Given the description of an element on the screen output the (x, y) to click on. 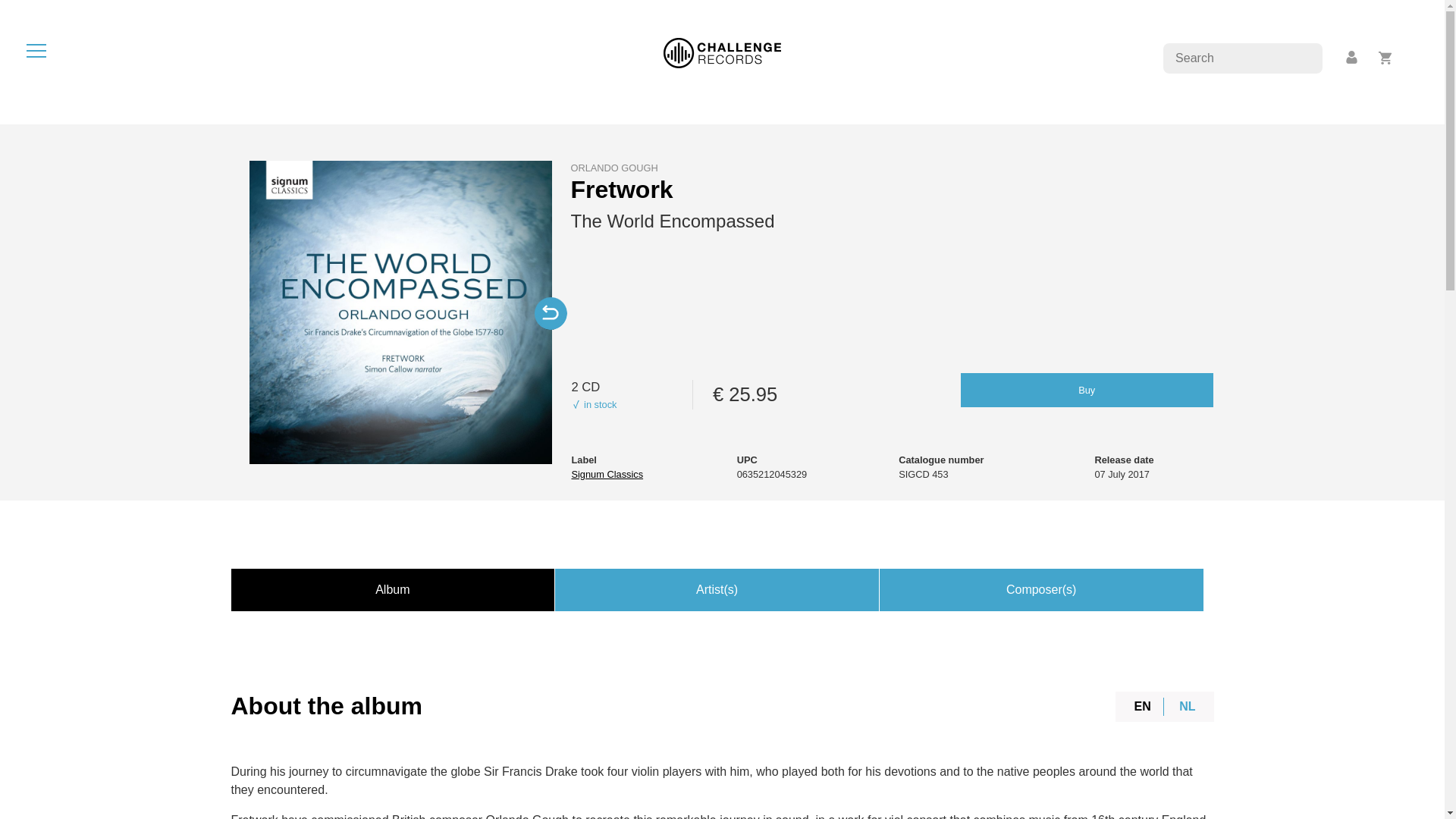
account (1352, 57)
Signum Classics (606, 473)
Buy (1086, 390)
open the menu (36, 49)
basket (1385, 57)
